Given the description of an element on the screen output the (x, y) to click on. 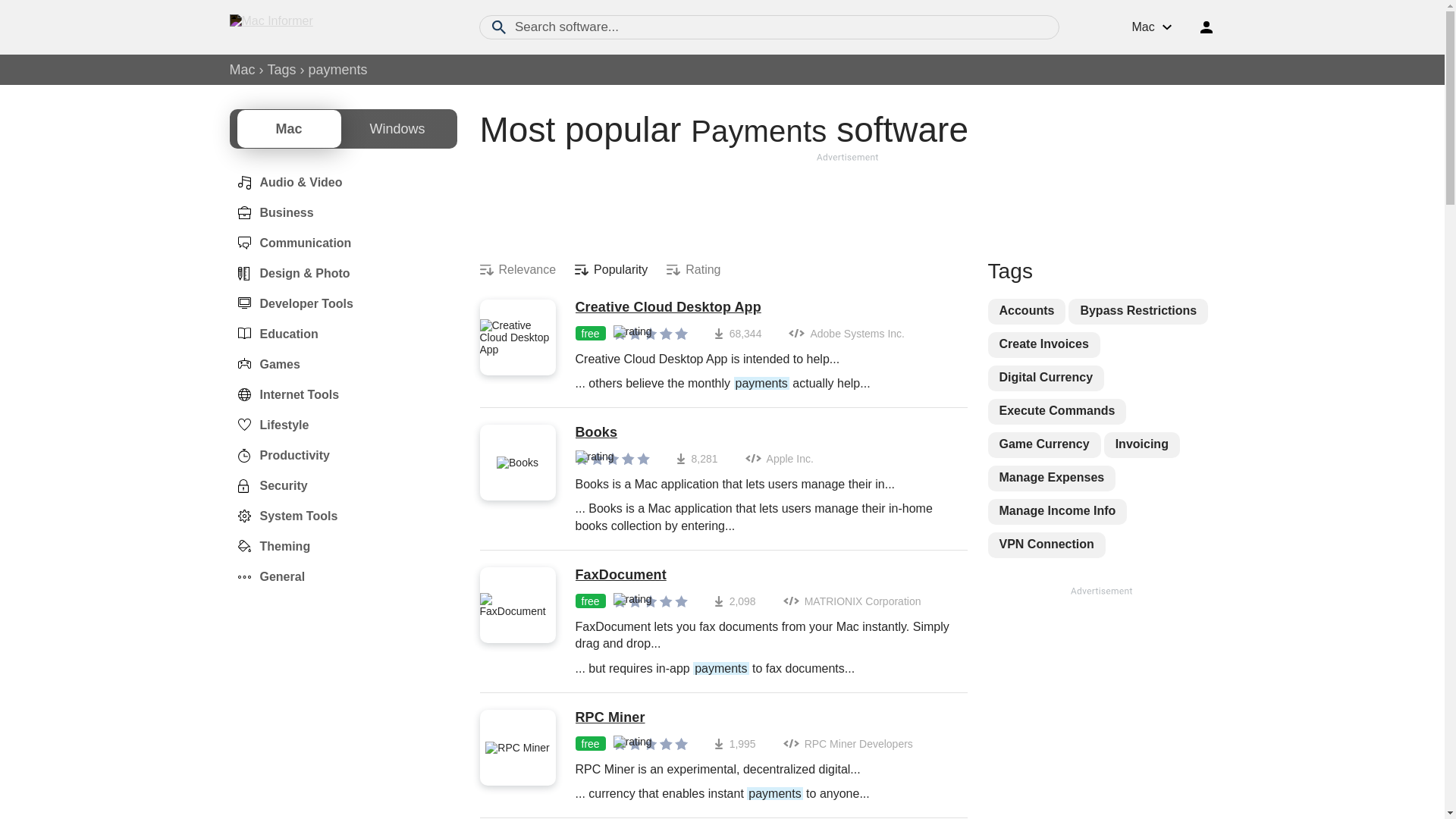
Search (498, 27)
System Tools (282, 516)
Rating (693, 269)
RPC Miner (743, 718)
Developer Tools (290, 304)
Books (763, 433)
Popularity (611, 269)
General (266, 576)
Books (763, 433)
Search software... (769, 27)
